Given the description of an element on the screen output the (x, y) to click on. 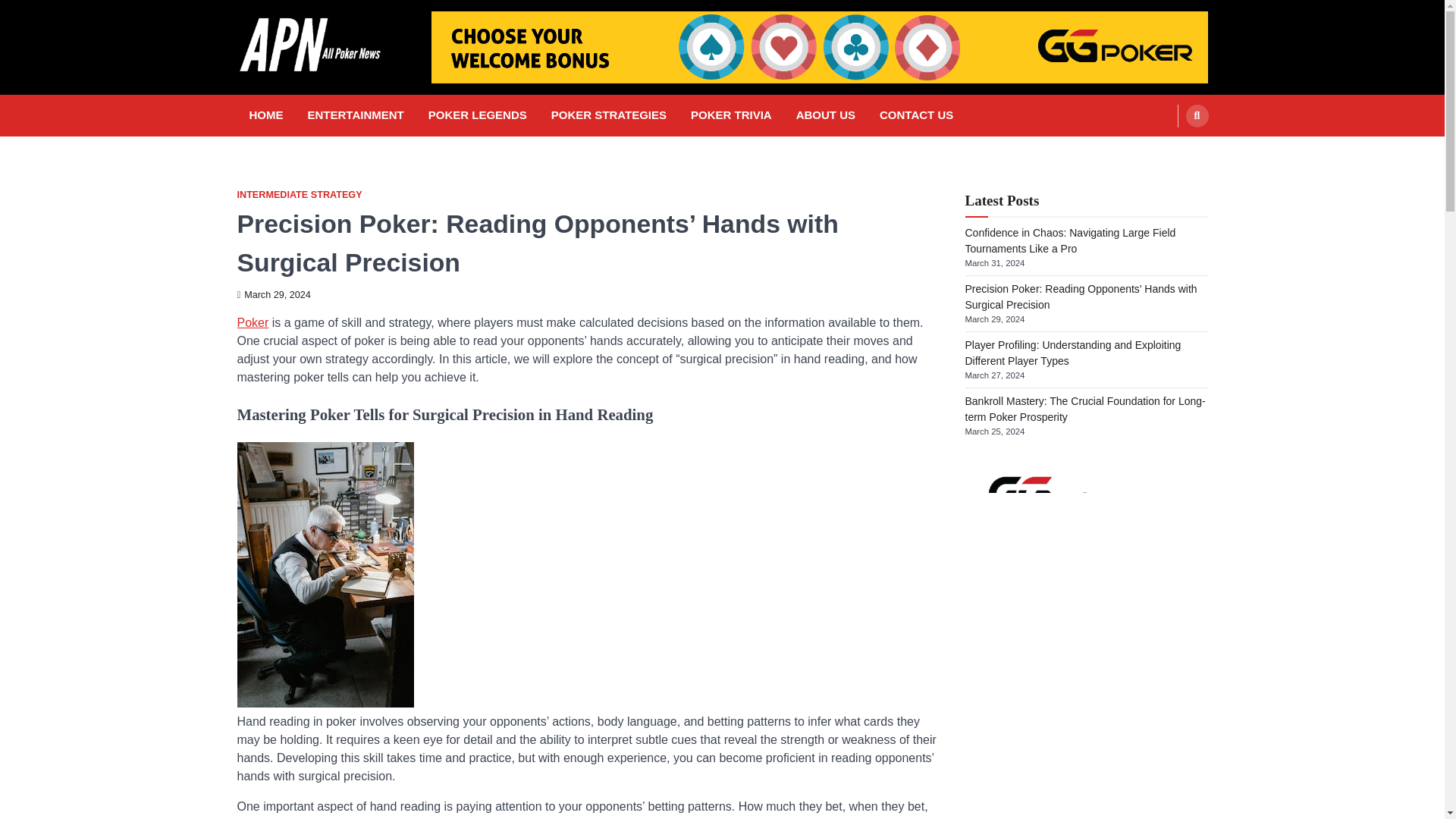
POKER LEGENDS (477, 115)
POKER TRIVIA (730, 115)
INTERMEDIATE STRATEGY (298, 194)
ENTERTAINMENT (355, 115)
March 29, 2024 (272, 294)
POKER STRATEGIES (608, 115)
HOME (265, 115)
